Given the description of an element on the screen output the (x, y) to click on. 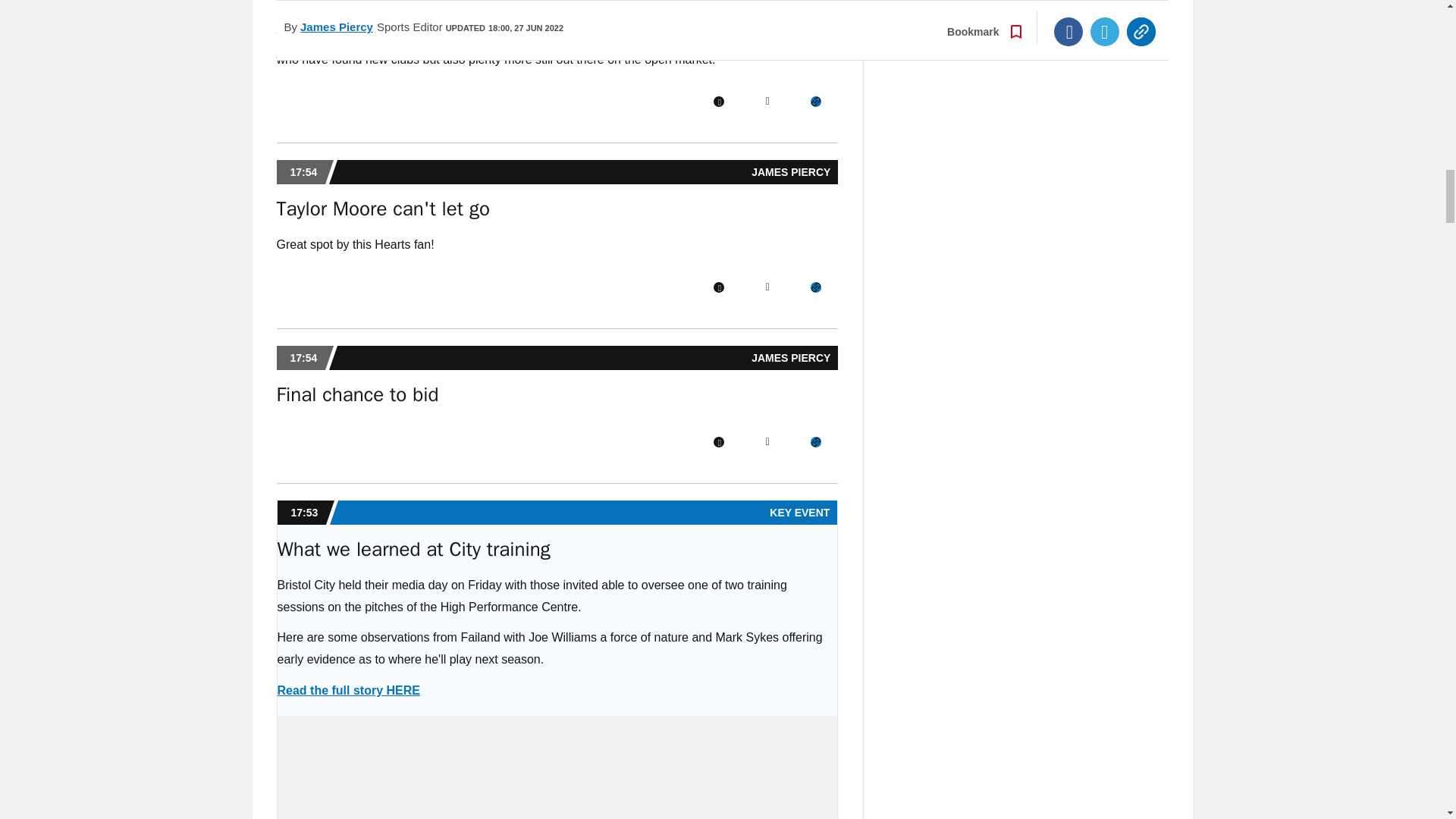
Twitter (767, 286)
Facebook (718, 286)
Twitter (767, 101)
Facebook (718, 441)
Twitter (767, 441)
Facebook (718, 101)
